Given the description of an element on the screen output the (x, y) to click on. 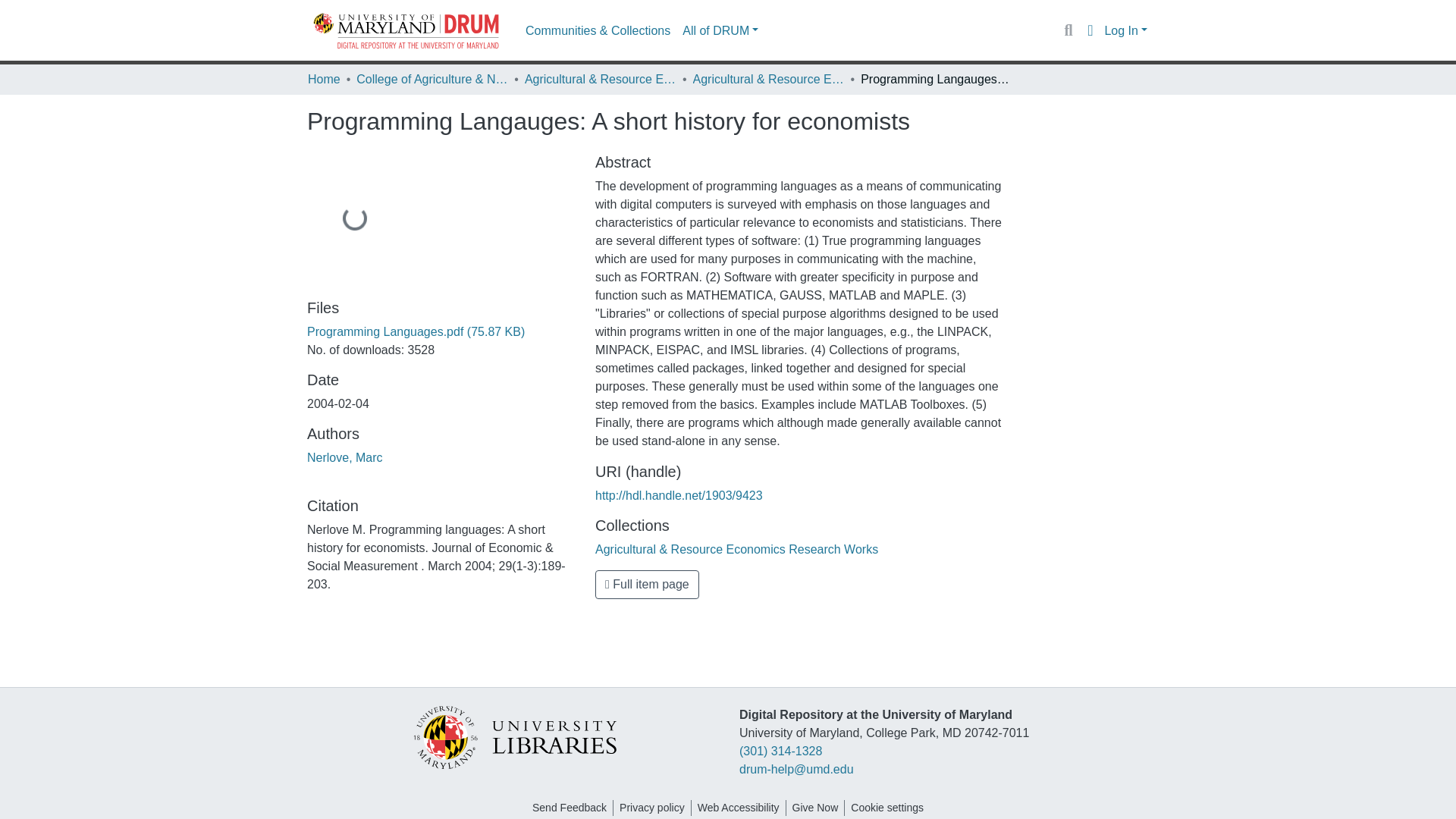
Nerlove, Marc (344, 457)
All of DRUM (720, 30)
Web Accessibility (738, 807)
Send Feedback (568, 807)
Privacy policy (651, 807)
Full item page (646, 584)
Cookie settings (887, 807)
Libraries Home Page (515, 735)
Home (323, 79)
Log In (1125, 30)
Language switch (1089, 30)
Search (1067, 30)
Give Now (815, 807)
